Given the description of an element on the screen output the (x, y) to click on. 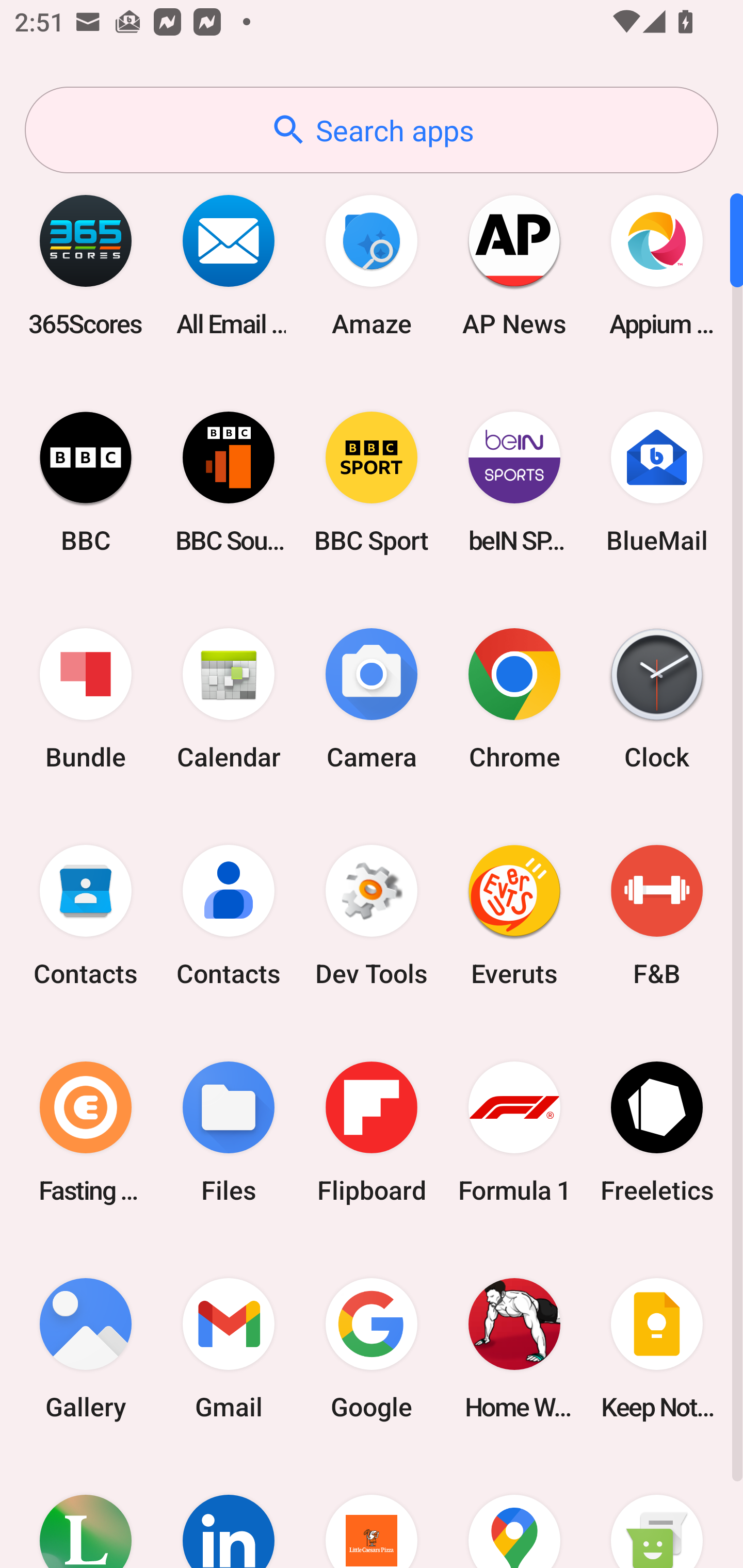
  Search apps (371, 130)
365Scores (85, 264)
All Email Connect (228, 264)
Amaze (371, 264)
AP News (514, 264)
Appium Settings (656, 264)
BBC (85, 482)
BBC Sounds (228, 482)
BBC Sport (371, 482)
beIN SPORTS (514, 482)
BlueMail (656, 482)
Bundle (85, 699)
Calendar (228, 699)
Camera (371, 699)
Chrome (514, 699)
Clock (656, 699)
Contacts (85, 915)
Contacts (228, 915)
Dev Tools (371, 915)
Everuts (514, 915)
F&B (656, 915)
Fasting Coach (85, 1131)
Files (228, 1131)
Flipboard (371, 1131)
Formula 1 (514, 1131)
Freeletics (656, 1131)
Gallery (85, 1348)
Gmail (228, 1348)
Google (371, 1348)
Home Workout (514, 1348)
Keep Notes (656, 1348)
